Given the description of an element on the screen output the (x, y) to click on. 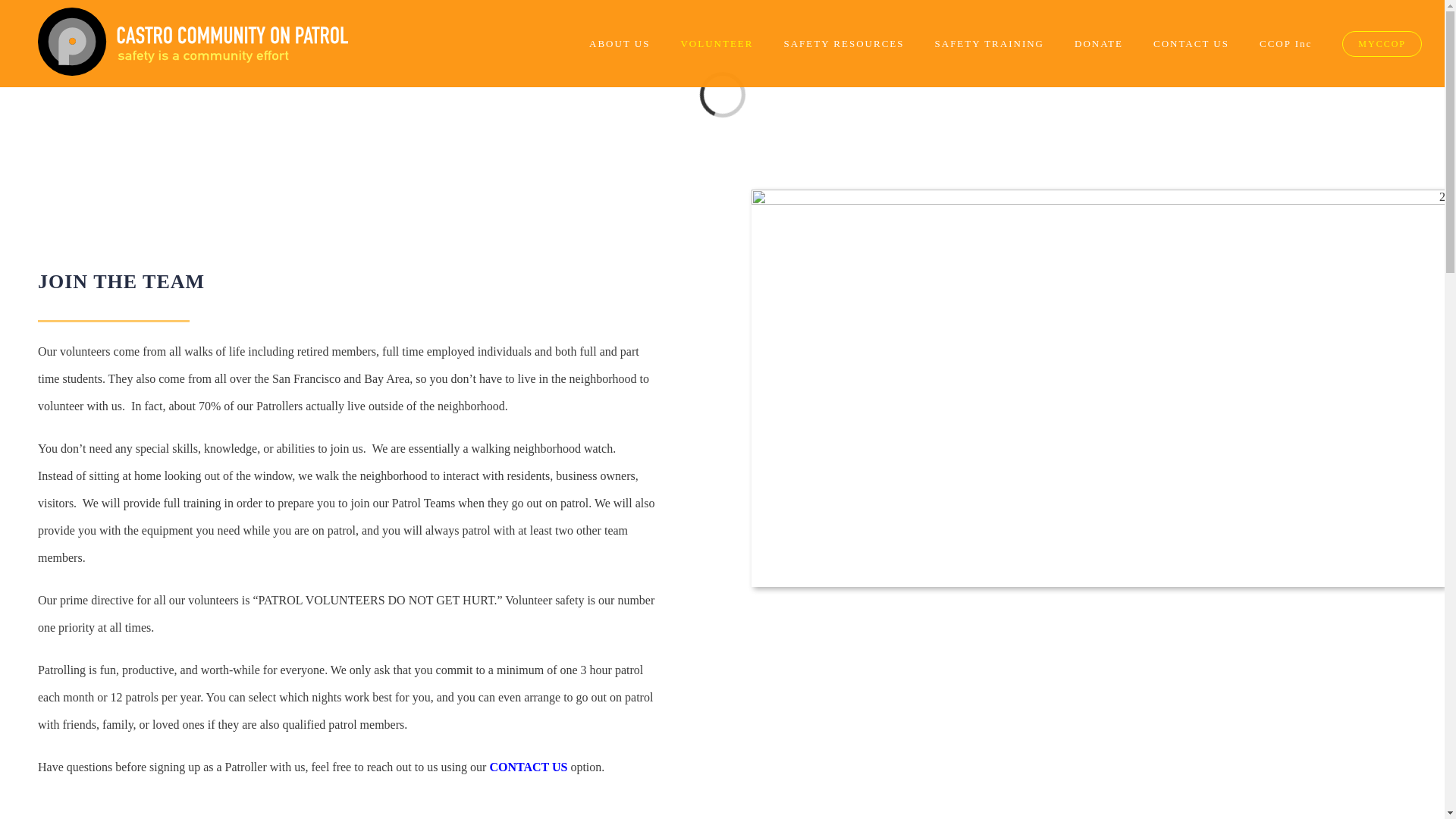
SAFETY TRAINING (988, 43)
SAFETY RESOURCES (843, 43)
MYCCOP (1382, 43)
